Given the description of an element on the screen output the (x, y) to click on. 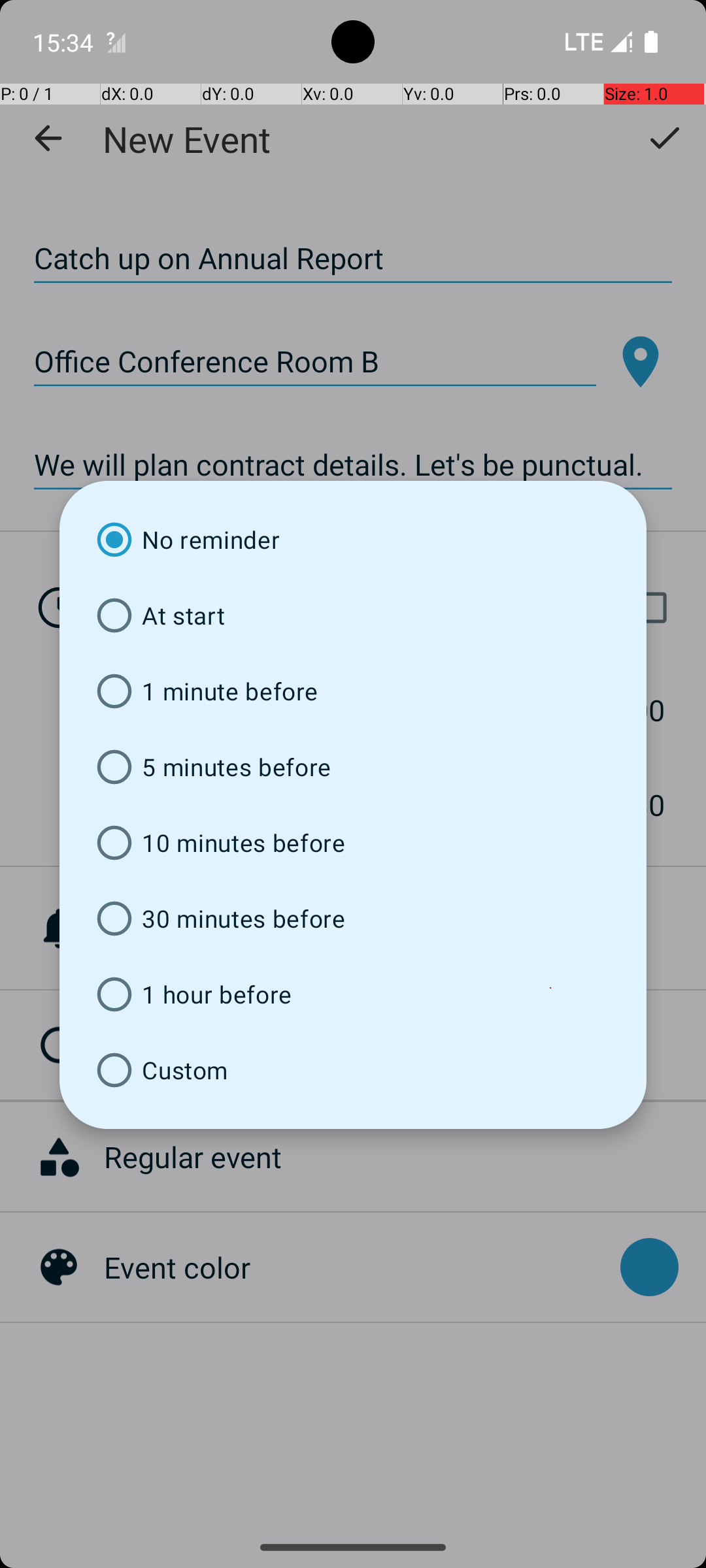
At start Element type: android.widget.RadioButton (352, 615)
1 minute before Element type: android.widget.RadioButton (352, 691)
5 minutes before Element type: android.widget.RadioButton (352, 766)
10 minutes before Element type: android.widget.RadioButton (352, 842)
30 minutes before Element type: android.widget.RadioButton (352, 918)
1 hour before Element type: android.widget.RadioButton (352, 994)
Custom Element type: android.widget.RadioButton (352, 1070)
